Given the description of an element on the screen output the (x, y) to click on. 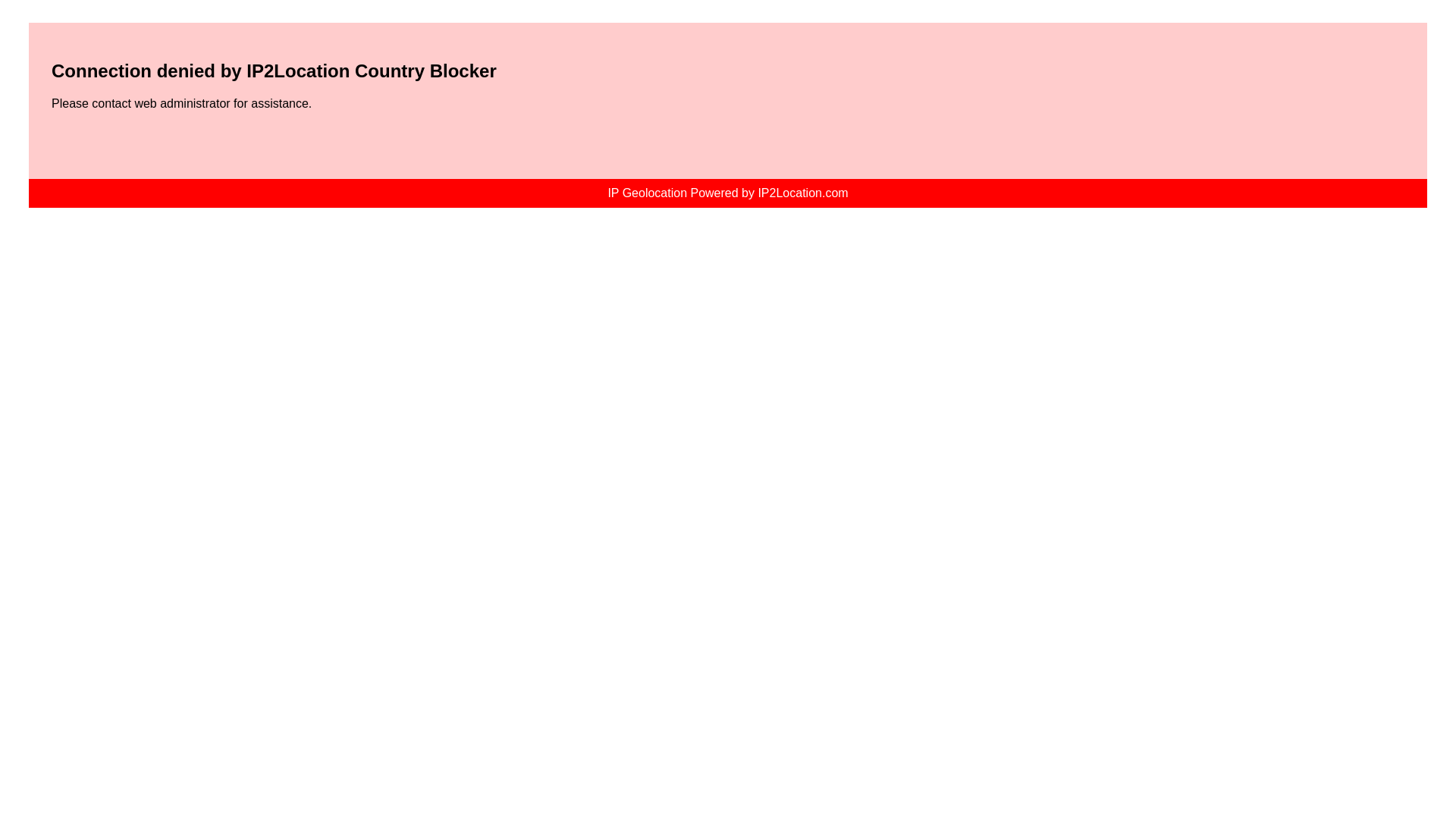
IP Geolocation Powered by IP2Location.com (727, 192)
